Given the description of an element on the screen output the (x, y) to click on. 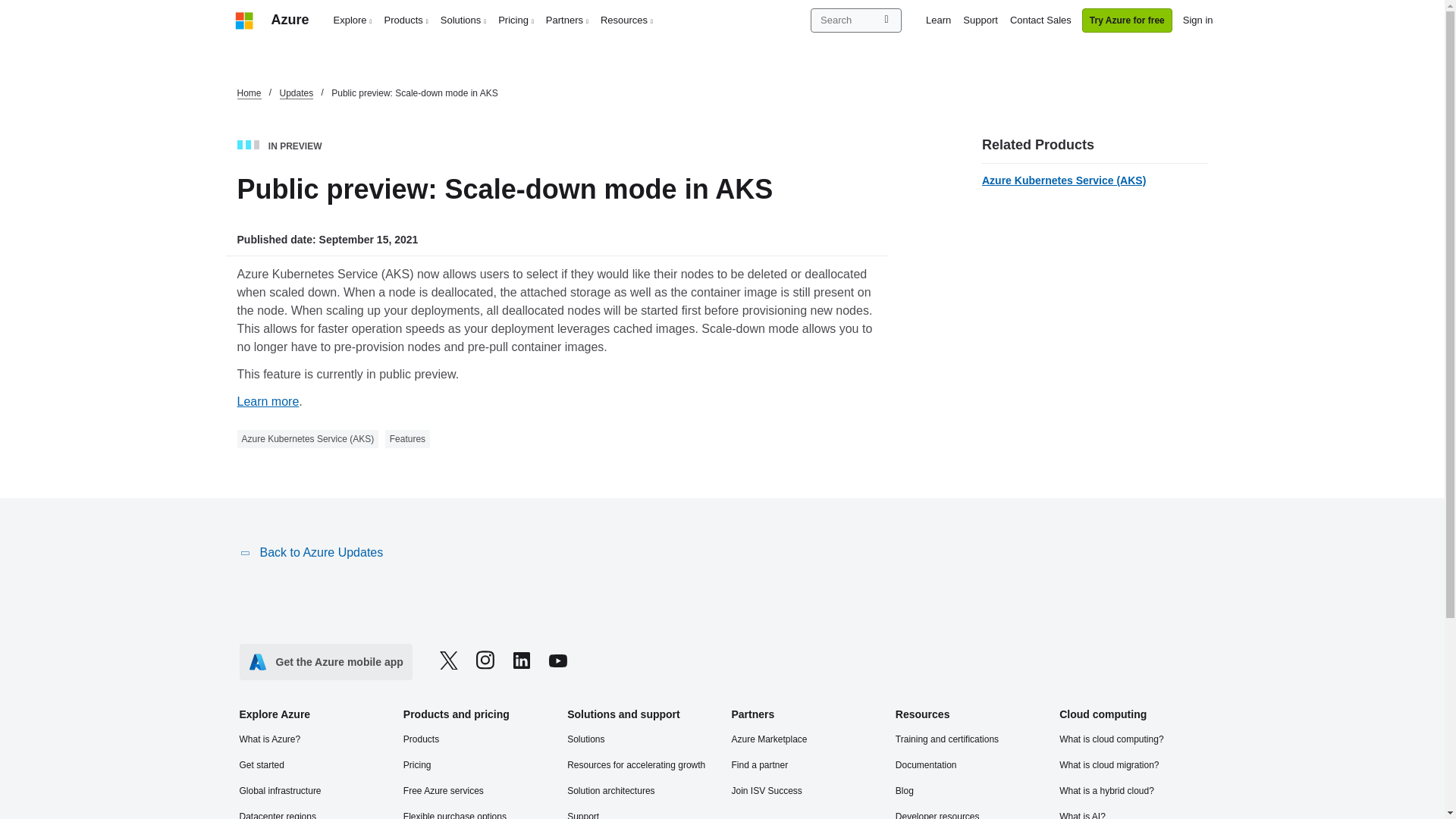
Skip to main content (7, 7)
Products (405, 20)
Azure (289, 19)
Explore (352, 20)
